Given the description of an element on the screen output the (x, y) to click on. 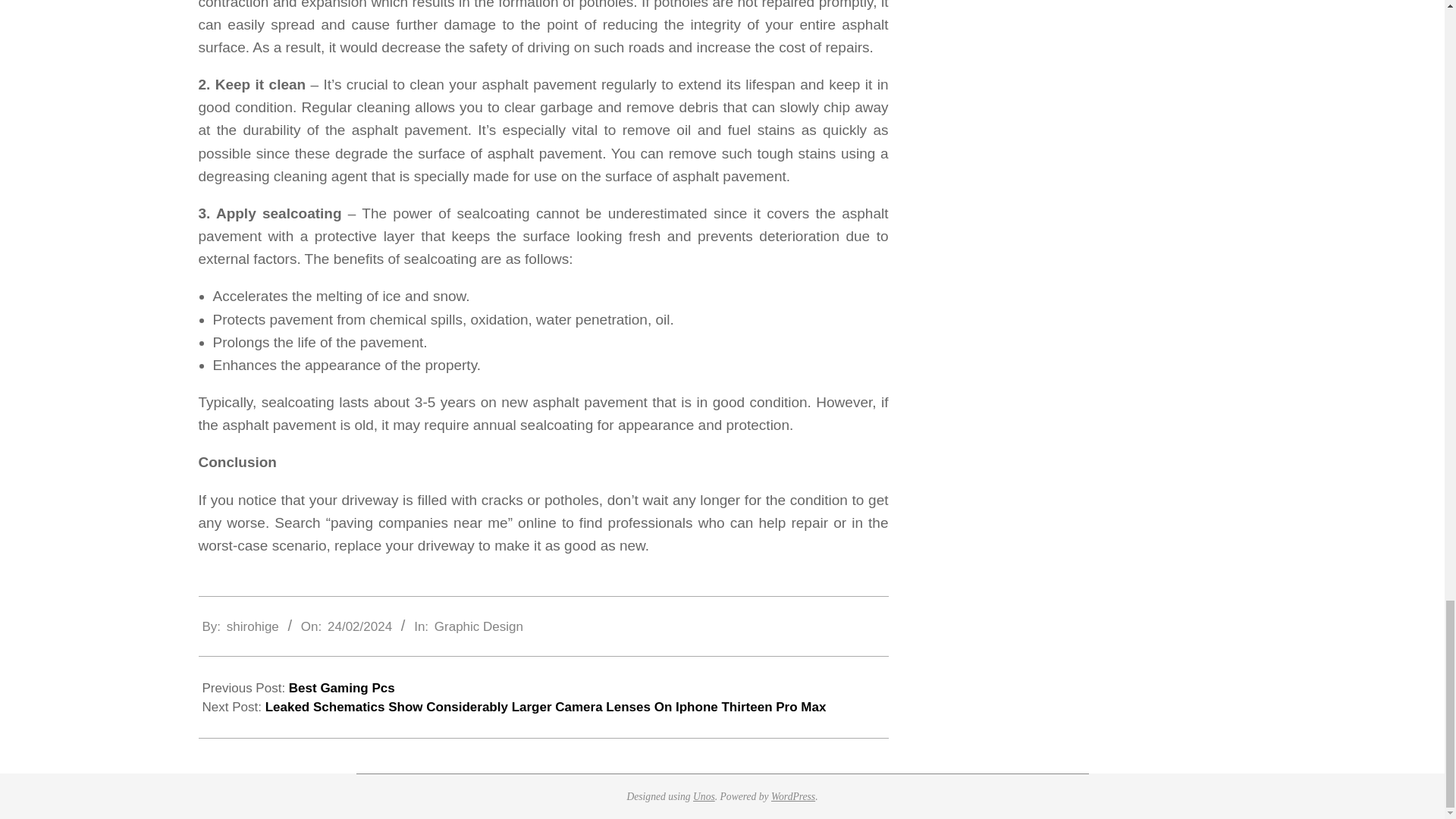
Saturday, February 24, 2024, 3:01 pm (359, 626)
Graphic Design (477, 626)
Best Gaming Pcs (341, 687)
Posts by shirohige (253, 626)
shirohige (253, 626)
Unos WordPress Theme (703, 796)
